Given the description of an element on the screen output the (x, y) to click on. 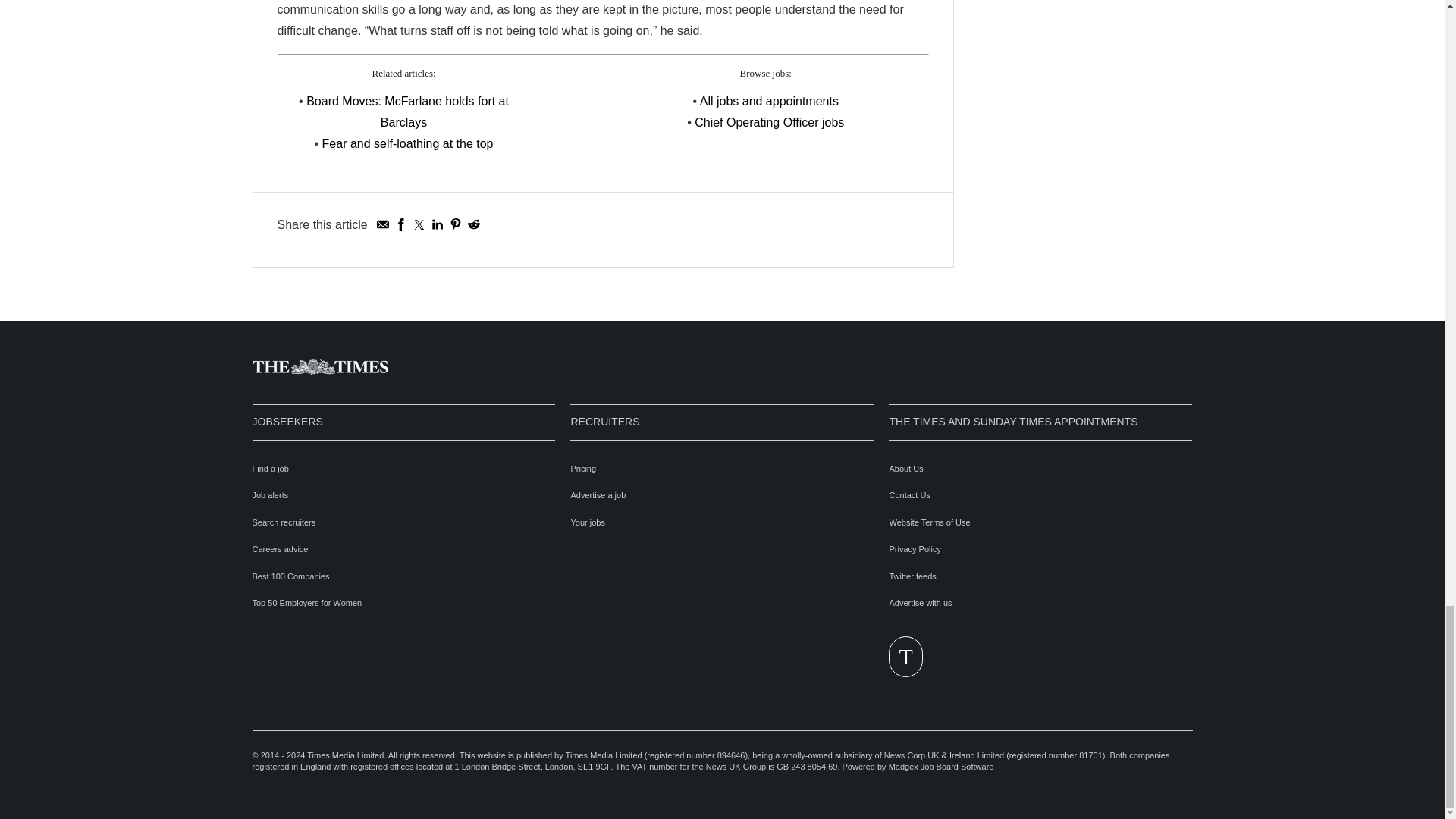
Chief Operating Officer jobs (769, 122)
LinkedIn (437, 224)
Pricing (582, 468)
Advertise a job (598, 494)
Careers advice (279, 548)
Pinterest (455, 224)
Job alerts (269, 494)
All jobs and appointments (769, 101)
Twitter (419, 224)
Board Moves: McFarlane holds fort at Barclays (406, 111)
Email this (382, 224)
Best 100 Companies (290, 575)
Find a job (269, 468)
Fear and self-loathing at the top (407, 143)
Top 50 Employers for Women (306, 602)
